Given the description of an element on the screen output the (x, y) to click on. 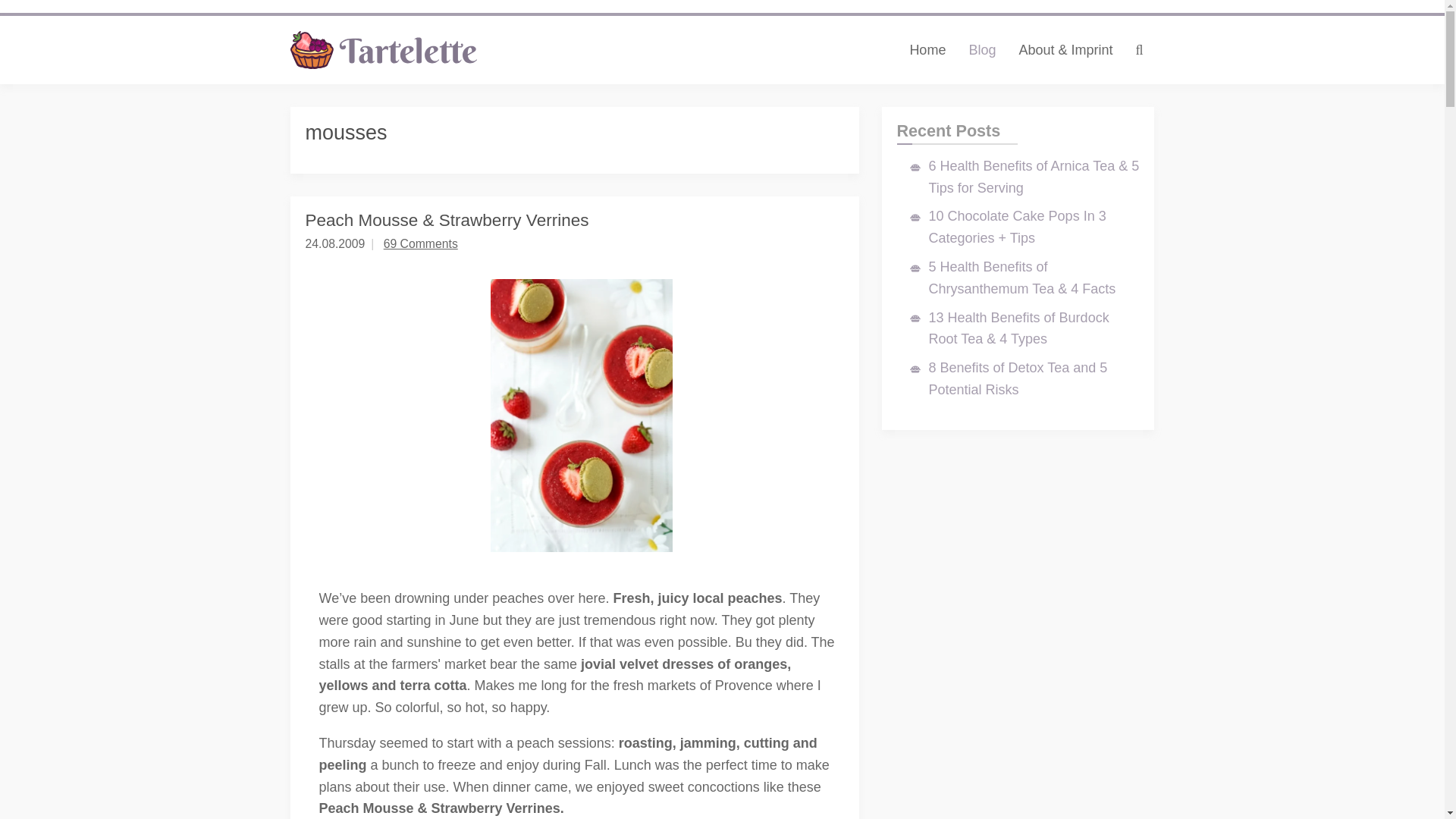
69 Comments (421, 243)
Blog (981, 49)
Tartelette (383, 49)
Home (927, 49)
